Given the description of an element on the screen output the (x, y) to click on. 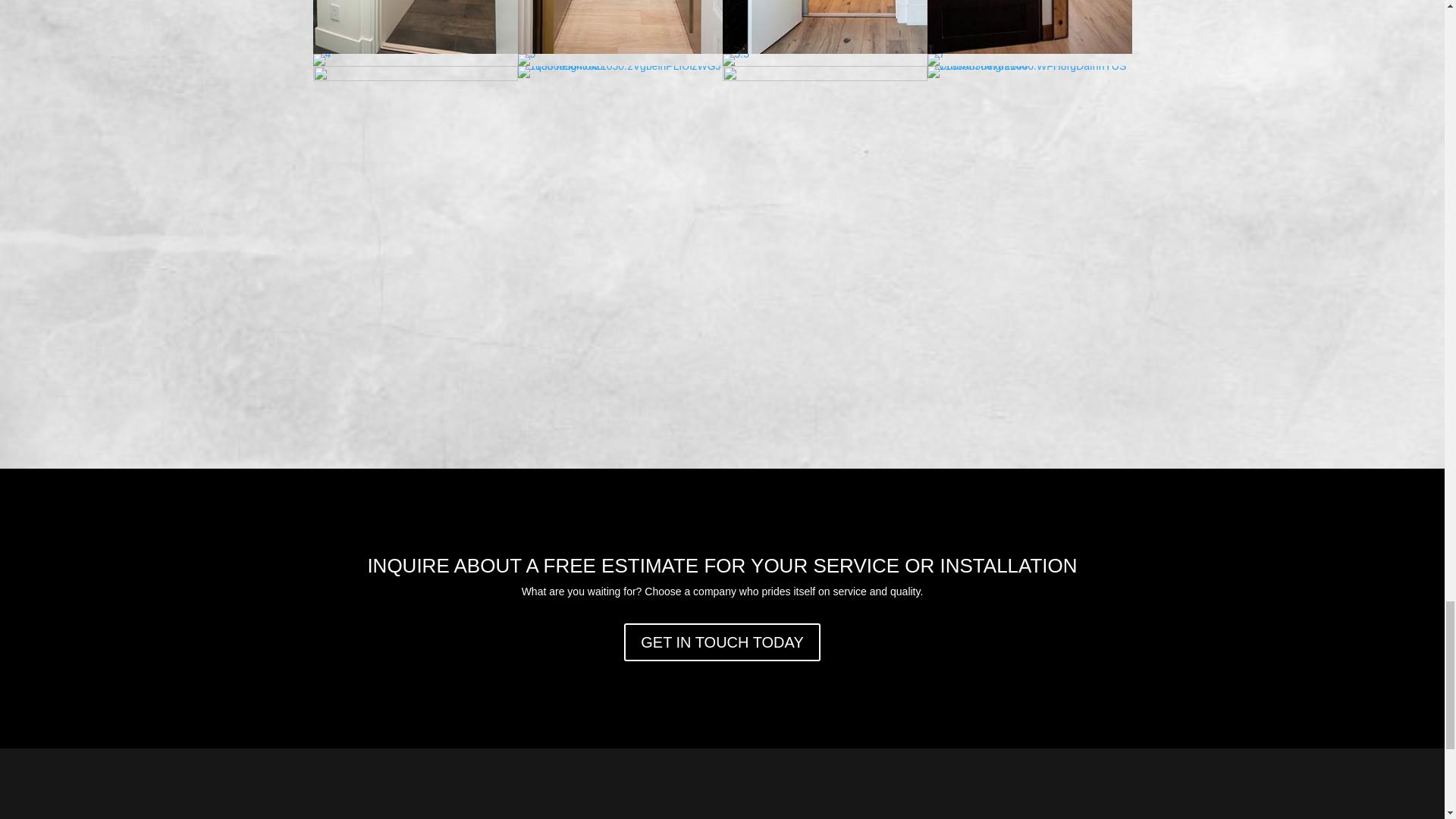
Home 8 (619, 27)
6 (1028, 50)
1.1 (824, 50)
Home 9 (824, 27)
4 (321, 53)
Home 11 (321, 60)
Home 10 (1028, 27)
Home 7 (414, 27)
2.2 (619, 50)
3 (414, 50)
